Given the description of an element on the screen output the (x, y) to click on. 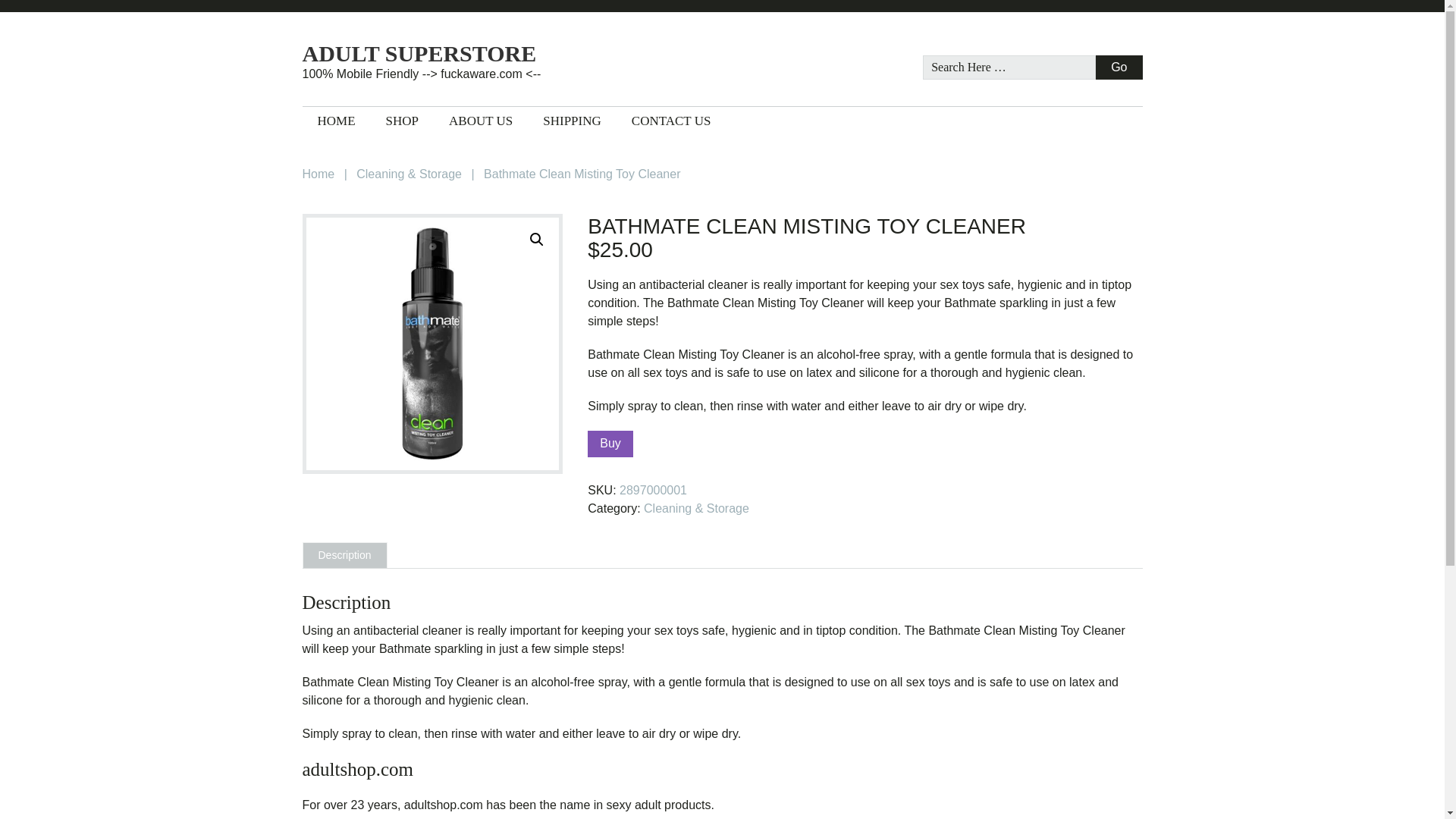
SHOP (402, 121)
53867200 (431, 343)
Home (317, 173)
CONTACT US (670, 121)
Go (1118, 67)
ABOUT US (480, 121)
ADULT SUPERSTORE (453, 53)
adultshop.com (721, 769)
SHIPPING (571, 121)
